Given the description of an element on the screen output the (x, y) to click on. 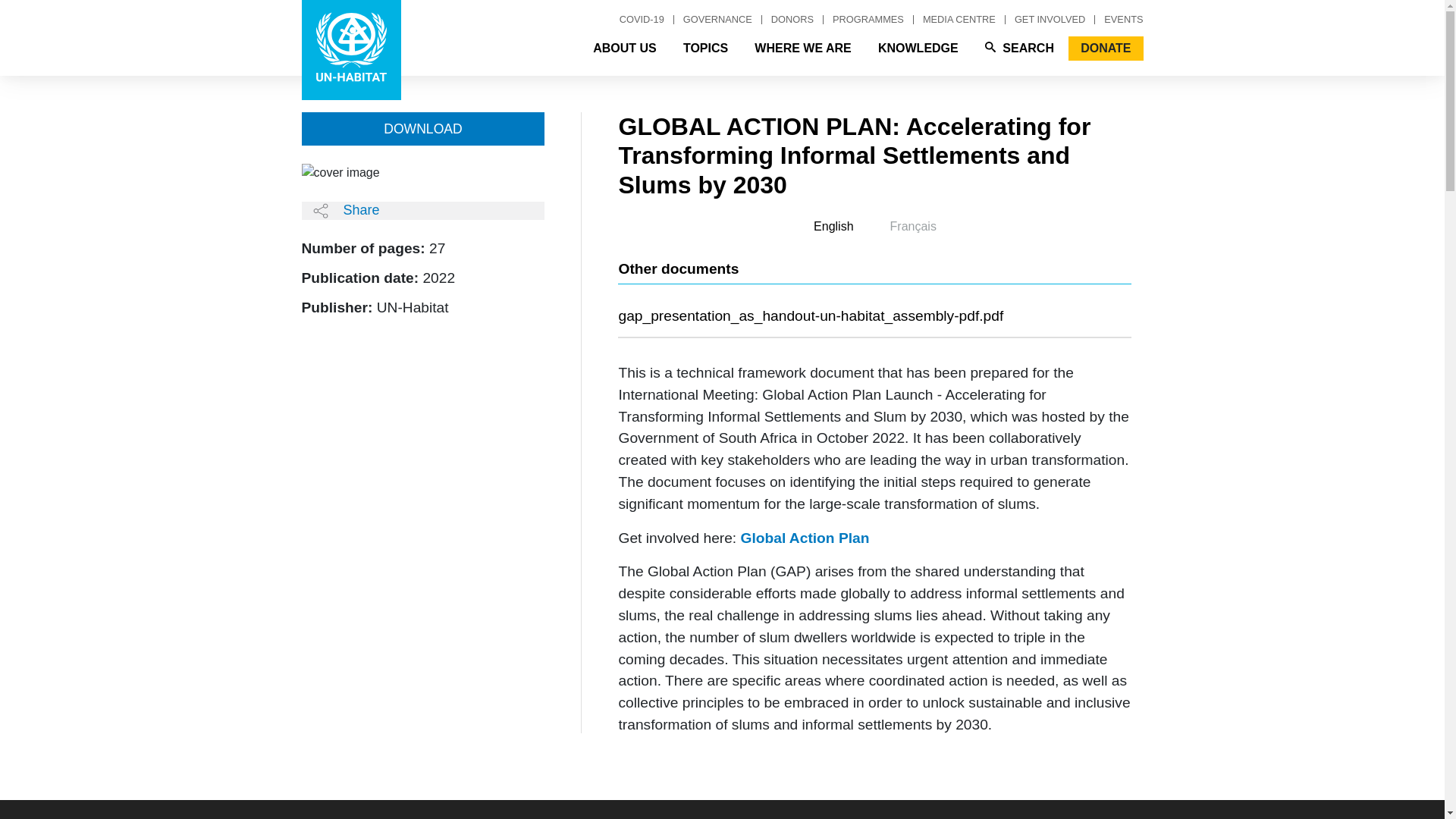
GET INVOLVED (1050, 19)
EVENTS (1118, 19)
MEDIA CENTRE (960, 19)
TOPICS (705, 48)
ABOUT US (624, 48)
Home (351, 49)
DONORS (792, 19)
COVID-19 (642, 19)
PROGRAMMES (869, 19)
Skip to main content (721, 46)
